Given the description of an element on the screen output the (x, y) to click on. 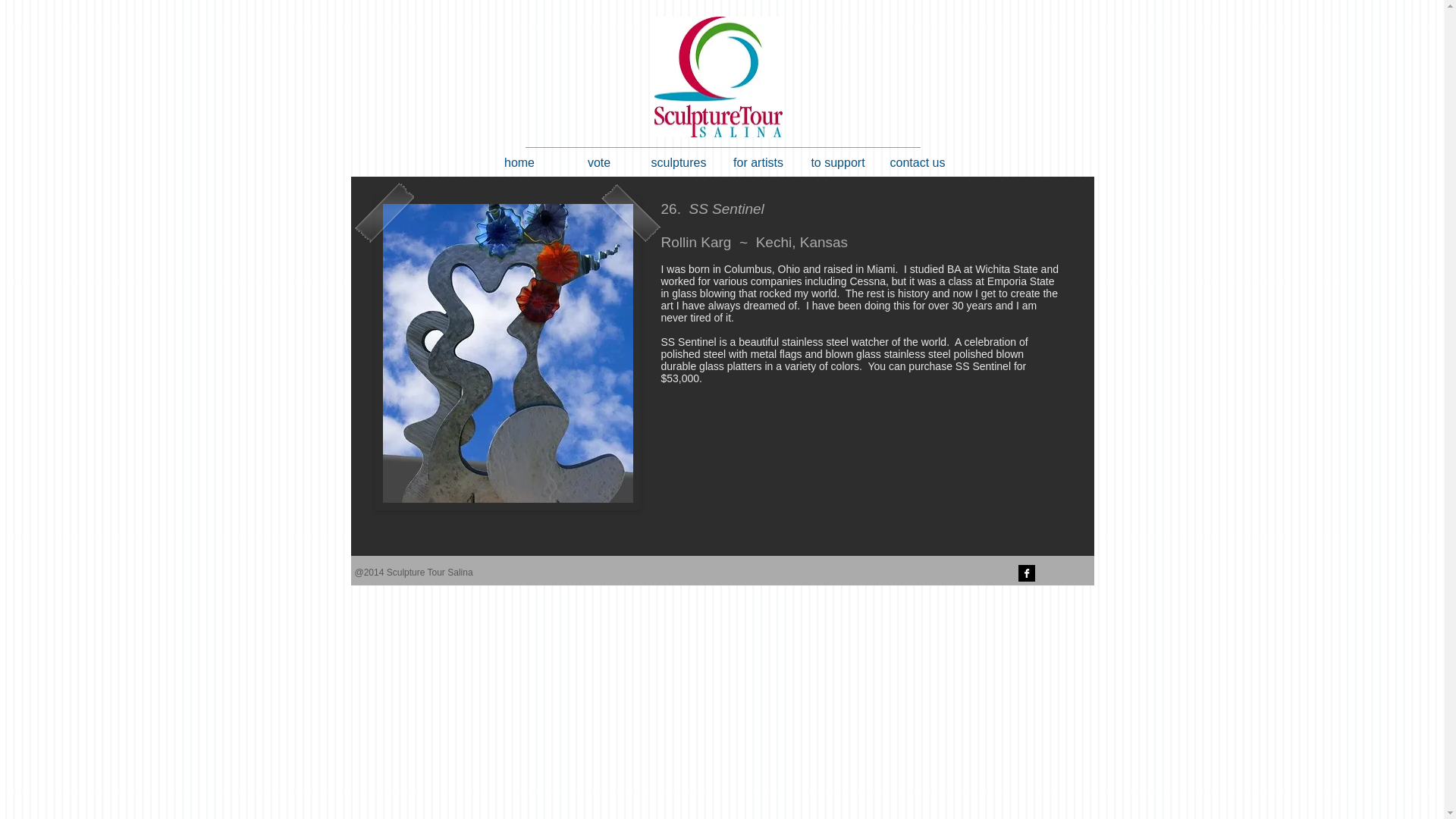
vote (599, 162)
sculptures (678, 162)
for artists (758, 162)
contact us (917, 162)
to support (837, 162)
home (519, 162)
